Given the description of an element on the screen output the (x, y) to click on. 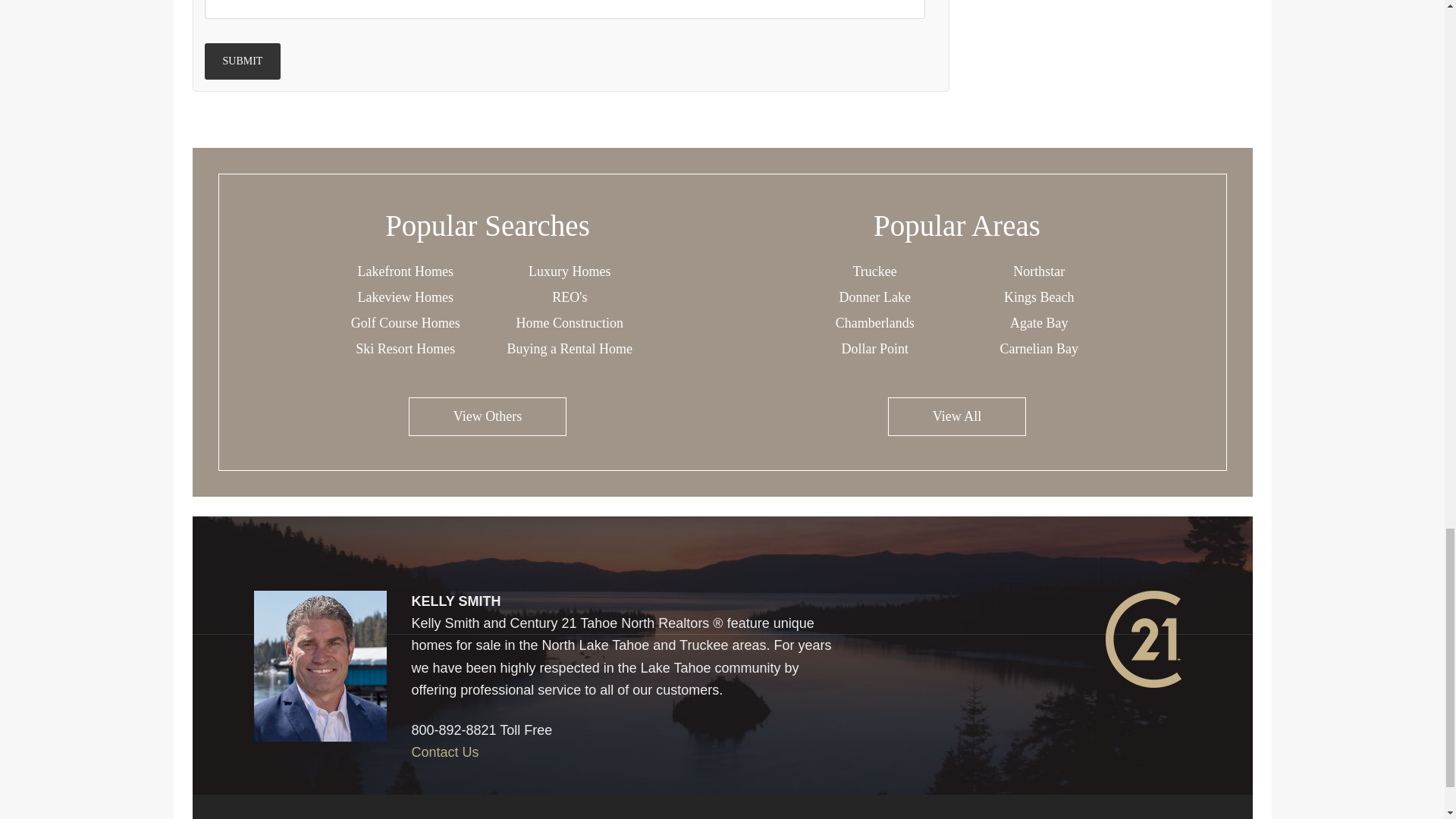
Submit (243, 61)
Luxury Homes (569, 271)
Submit (243, 61)
Lakeview Homes (404, 296)
REO's (568, 296)
Lakefront Homes (404, 271)
